Given the description of an element on the screen output the (x, y) to click on. 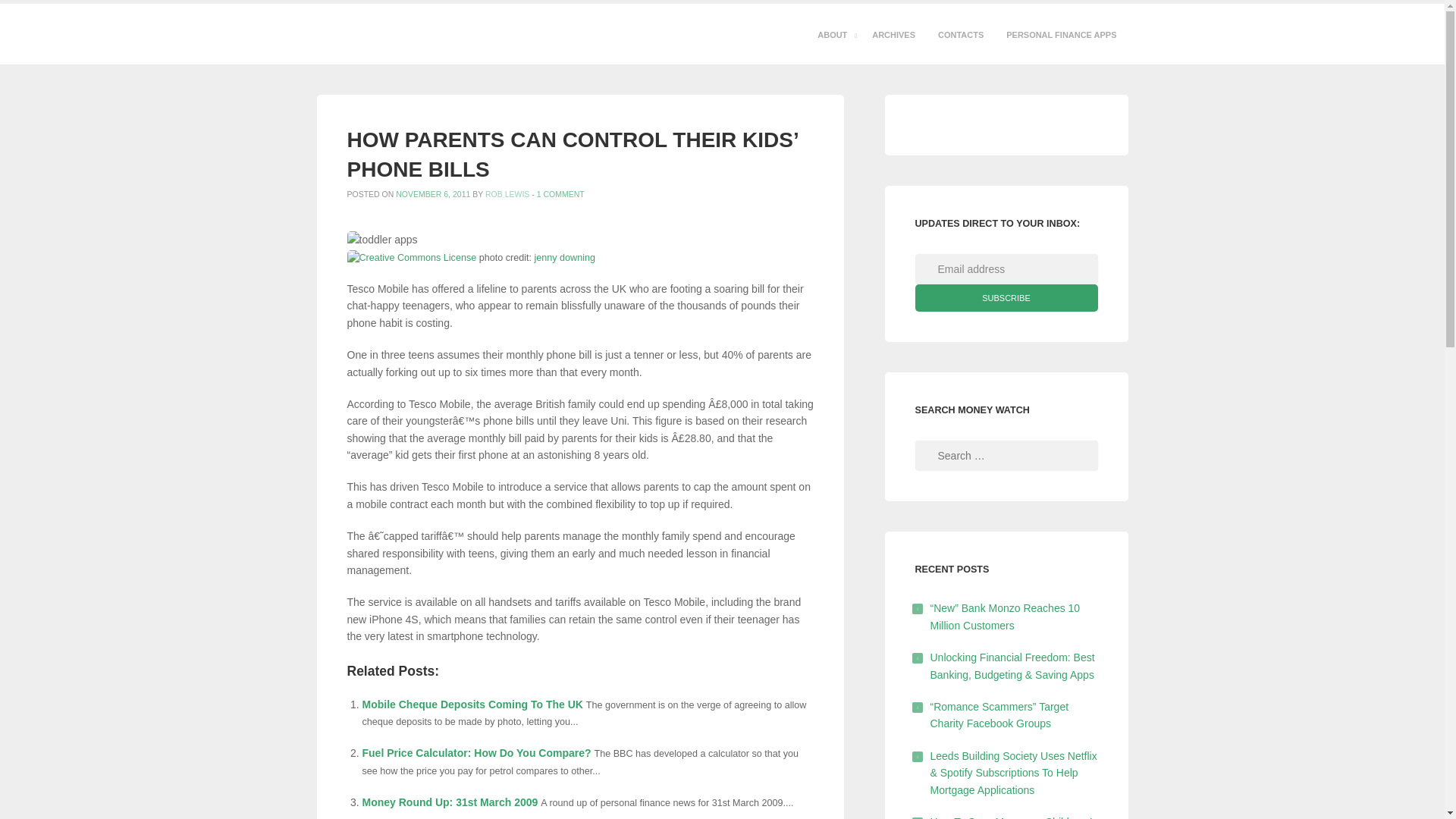
1 COMMENT (561, 194)
Fuel Price Calculator: How Do You Compare? (476, 752)
Subscribe (1005, 298)
NOVEMBER 6, 2011 (433, 194)
ROB LEWIS (506, 194)
jenny downing (564, 257)
jenny downing (564, 257)
Fuel Price Calculator: How Do You Compare? (476, 752)
CONTACTS (960, 34)
Mobile Cheque Deposits Coming To The UK (472, 704)
